Given the description of an element on the screen output the (x, y) to click on. 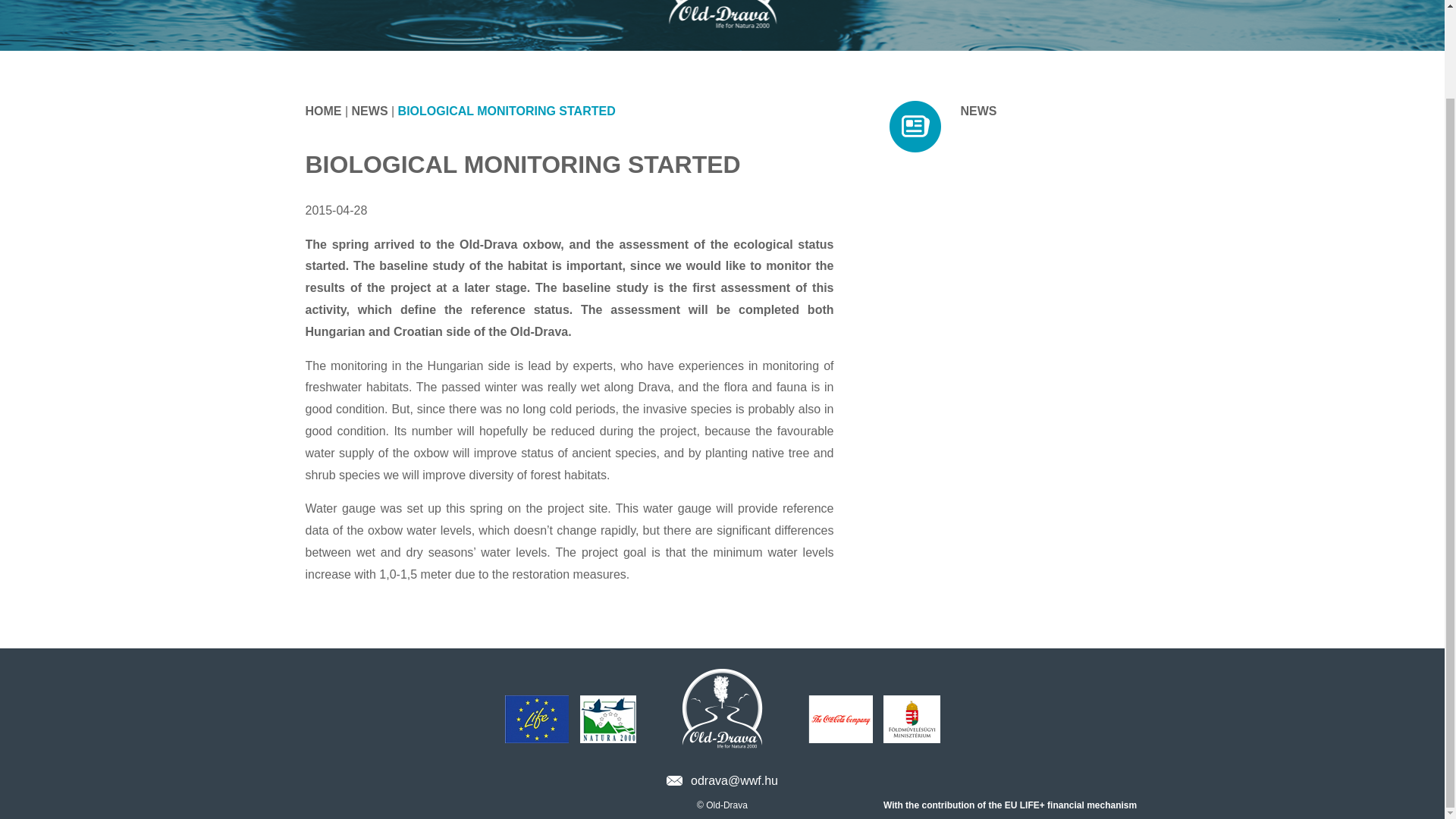
NEWS (370, 110)
NEWS (977, 110)
HOME (322, 110)
BIOLOGICAL MONITORING STARTED (506, 110)
